Given the description of an element on the screen output the (x, y) to click on. 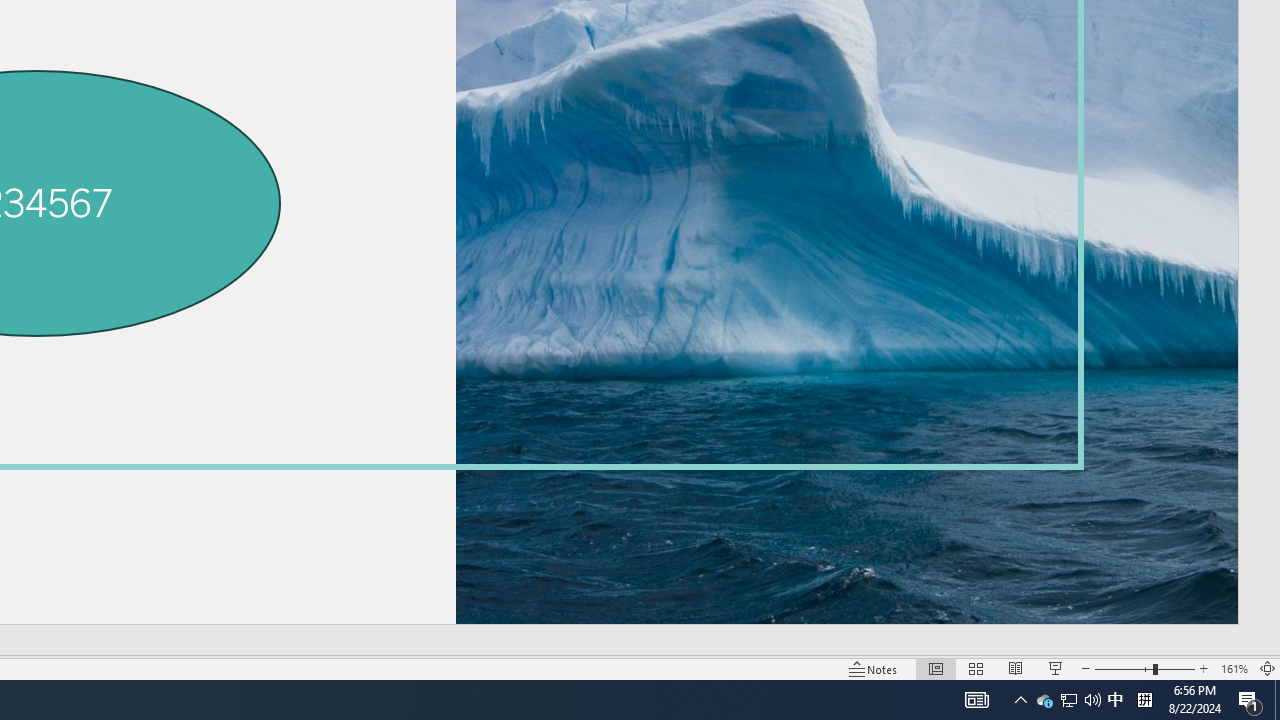
Zoom 161% (1234, 668)
